Given the description of an element on the screen output the (x, y) to click on. 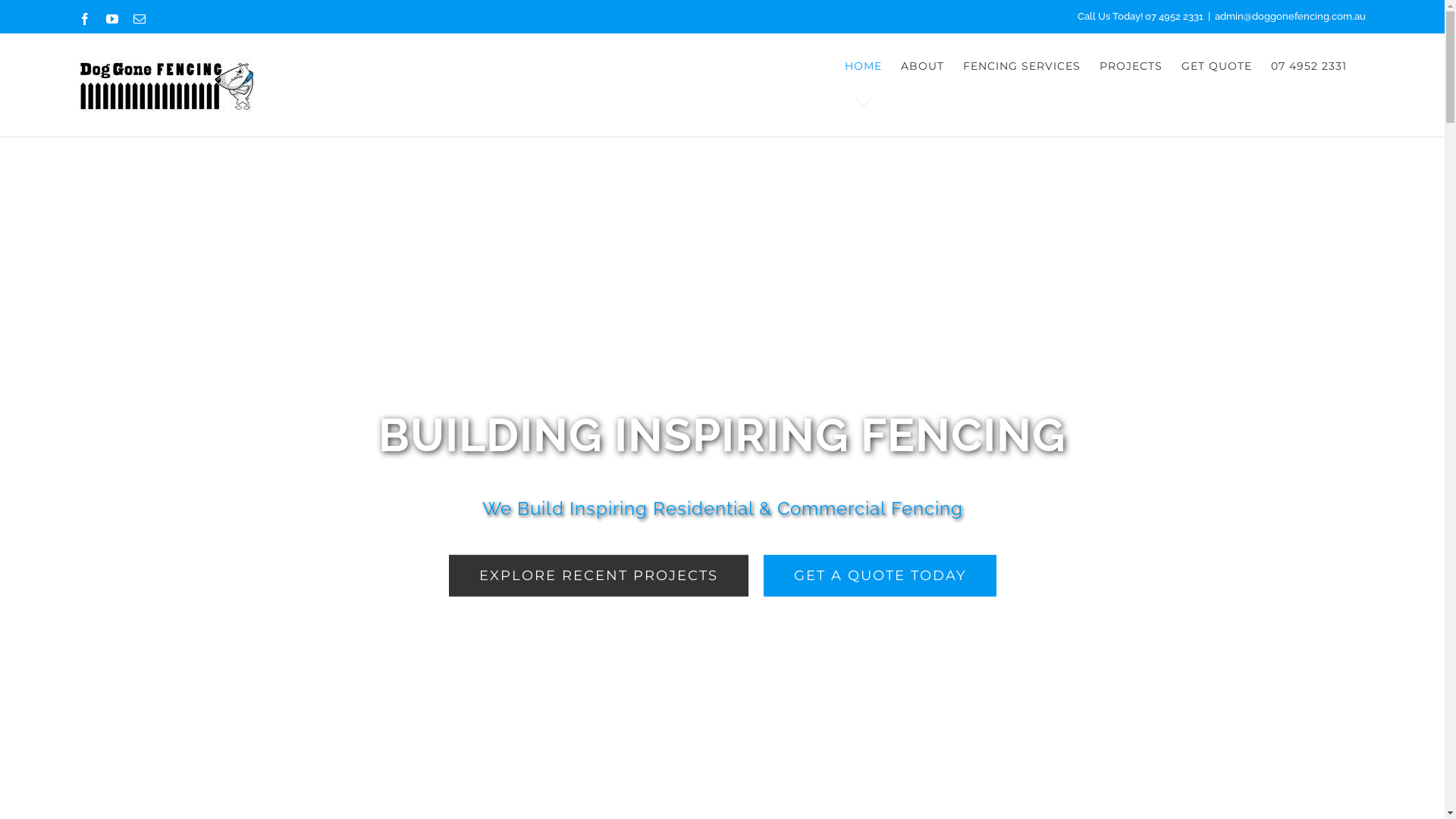
YouTube Element type: text (112, 18)
Email Element type: text (139, 18)
07 4952 2331 Element type: text (1174, 15)
GET A QUOTE TODAY Element type: text (878, 575)
ABOUT Element type: text (922, 65)
07 4952 2331 Element type: text (1308, 65)
GET QUOTE Element type: text (1216, 65)
EXPLORE RECENT PROJECTS Element type: text (598, 575)
PROJECTS Element type: text (1130, 65)
admin@doggonefencing.com.au Element type: text (1289, 15)
HOME Element type: text (862, 65)
Facebook Element type: text (84, 18)
FENCING SERVICES Element type: text (1021, 65)
